Given the description of an element on the screen output the (x, y) to click on. 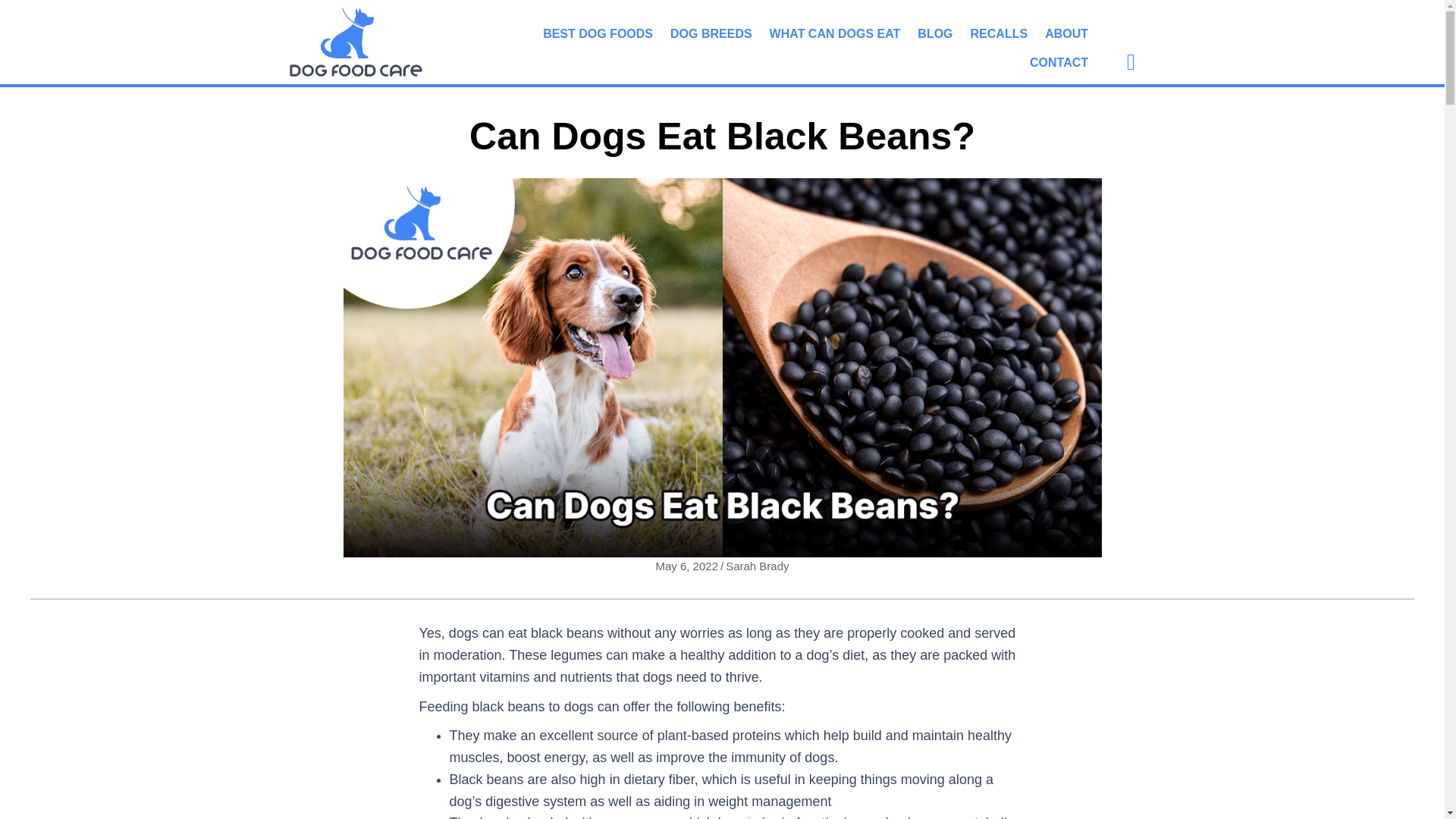
dog-food-care-logo-white-background (355, 40)
BEST DOG FOODS (597, 33)
BLOG (934, 33)
RECALLS (999, 33)
DOG BREEDS (711, 33)
Sarah Brady (757, 565)
CONTACT (1059, 62)
ABOUT (1066, 33)
WHAT CAN DOGS EAT (834, 33)
